Given the description of an element on the screen output the (x, y) to click on. 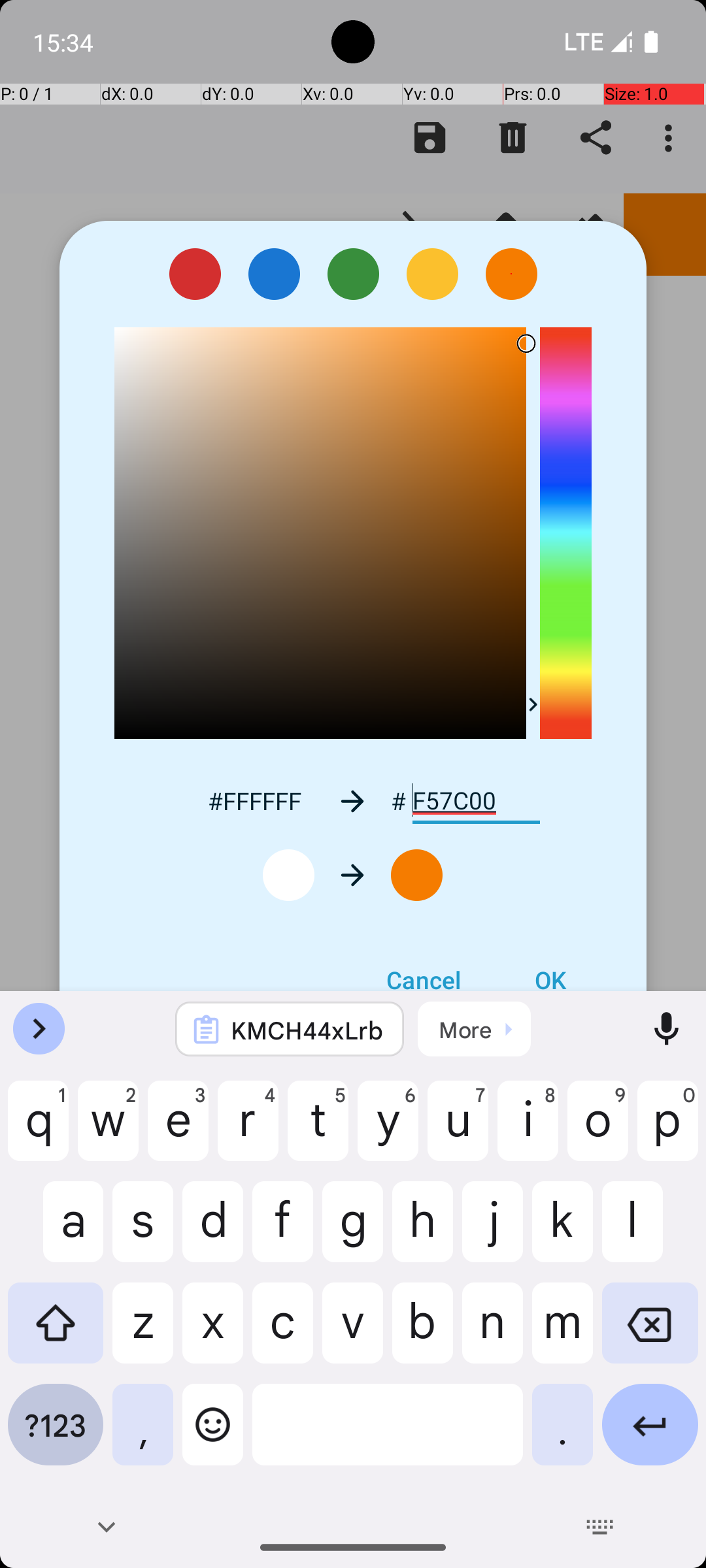
#FFFFFF Element type: android.widget.TextView (254, 800)
# Element type: android.widget.TextView (397, 800)
F57C00 Element type: android.widget.EditText (475, 800)
KMCH44xLrb Element type: android.widget.TextView (306, 1029)
